Given the description of an element on the screen output the (x, y) to click on. 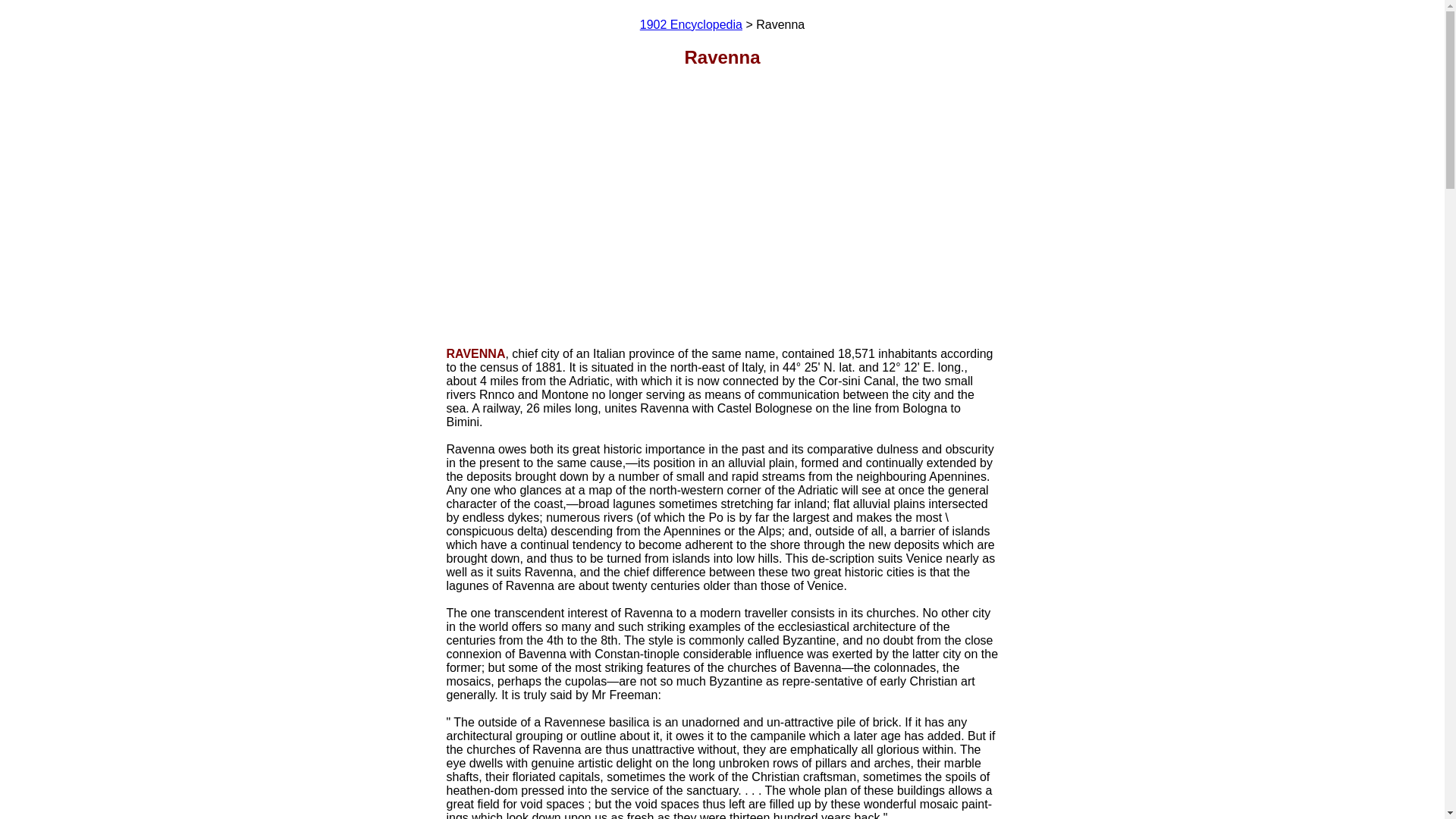
1902 Encyclopedia (691, 24)
Advertisement (721, 189)
